Given the description of an element on the screen output the (x, y) to click on. 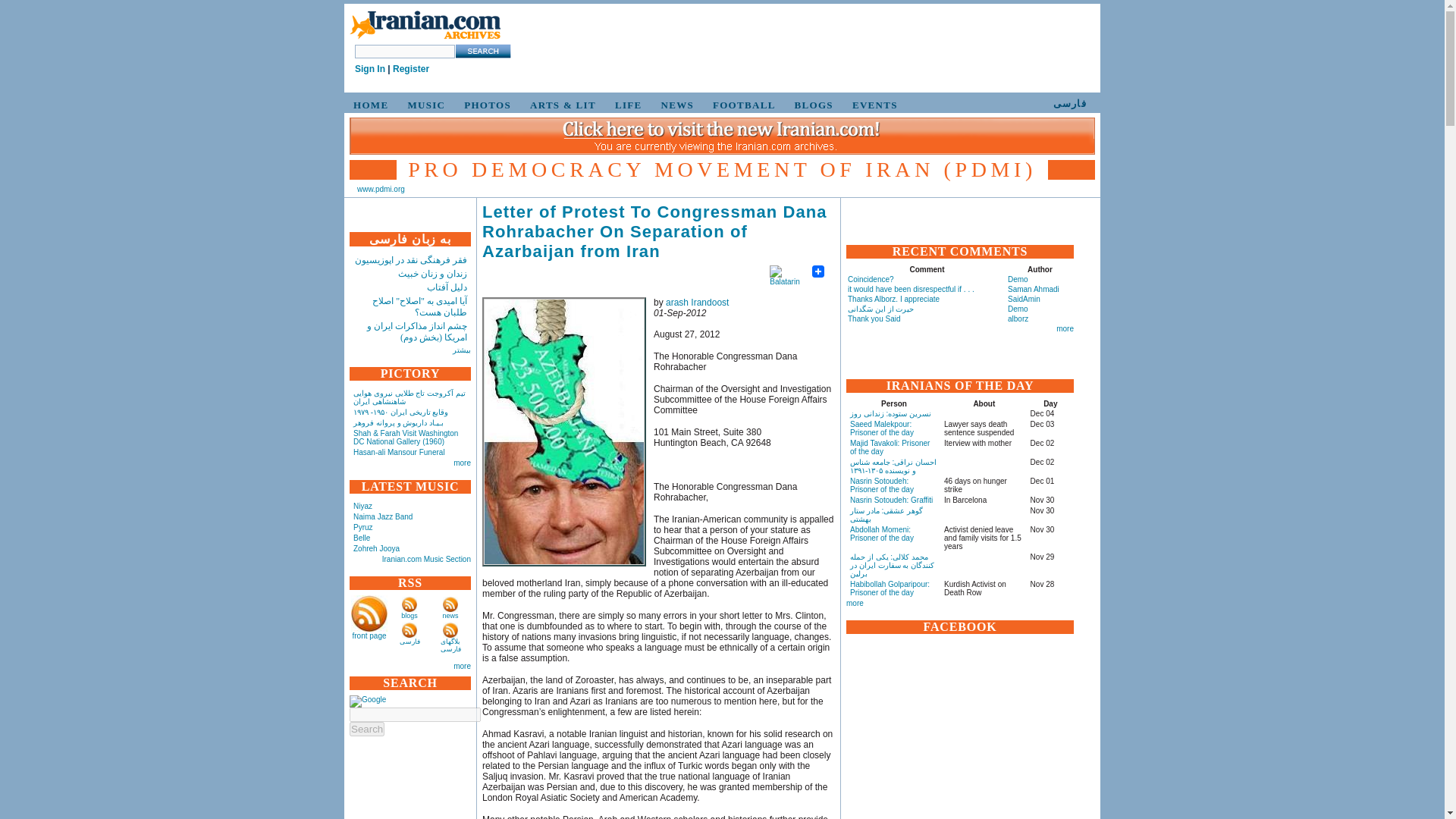
Zohreh Jooya (375, 548)
Naima Jazz Band (382, 516)
LIFE (625, 105)
Pyruz (362, 527)
Belle (361, 537)
Hasan-ali Mansour Funeral (399, 451)
Iranian.com Music Section (425, 559)
EVENTS (872, 105)
Niyaz (362, 506)
www.pdmi.org (380, 189)
PHOTOS (484, 105)
Home (424, 40)
NEWS (674, 105)
MUSIC (423, 105)
www.pdmi.org (380, 189)
